Given the description of an element on the screen output the (x, y) to click on. 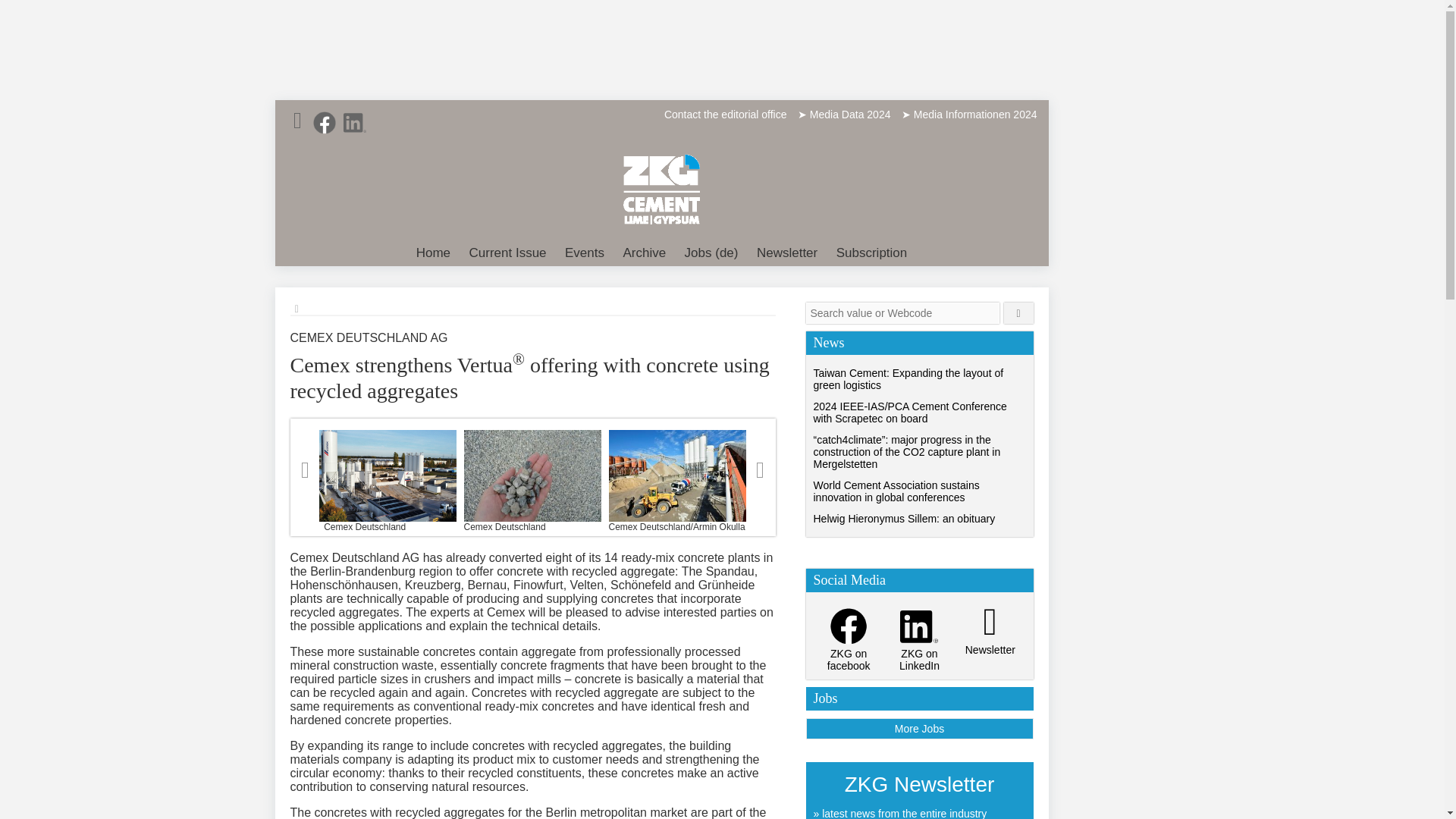
Search value or Webcode (901, 312)
Suchen (1018, 312)
Contact the editorial office (725, 114)
Subscription (871, 253)
Home (433, 253)
Current Issue (507, 253)
Events (584, 253)
Newsletter (787, 253)
Archive (643, 253)
